Given the description of an element on the screen output the (x, y) to click on. 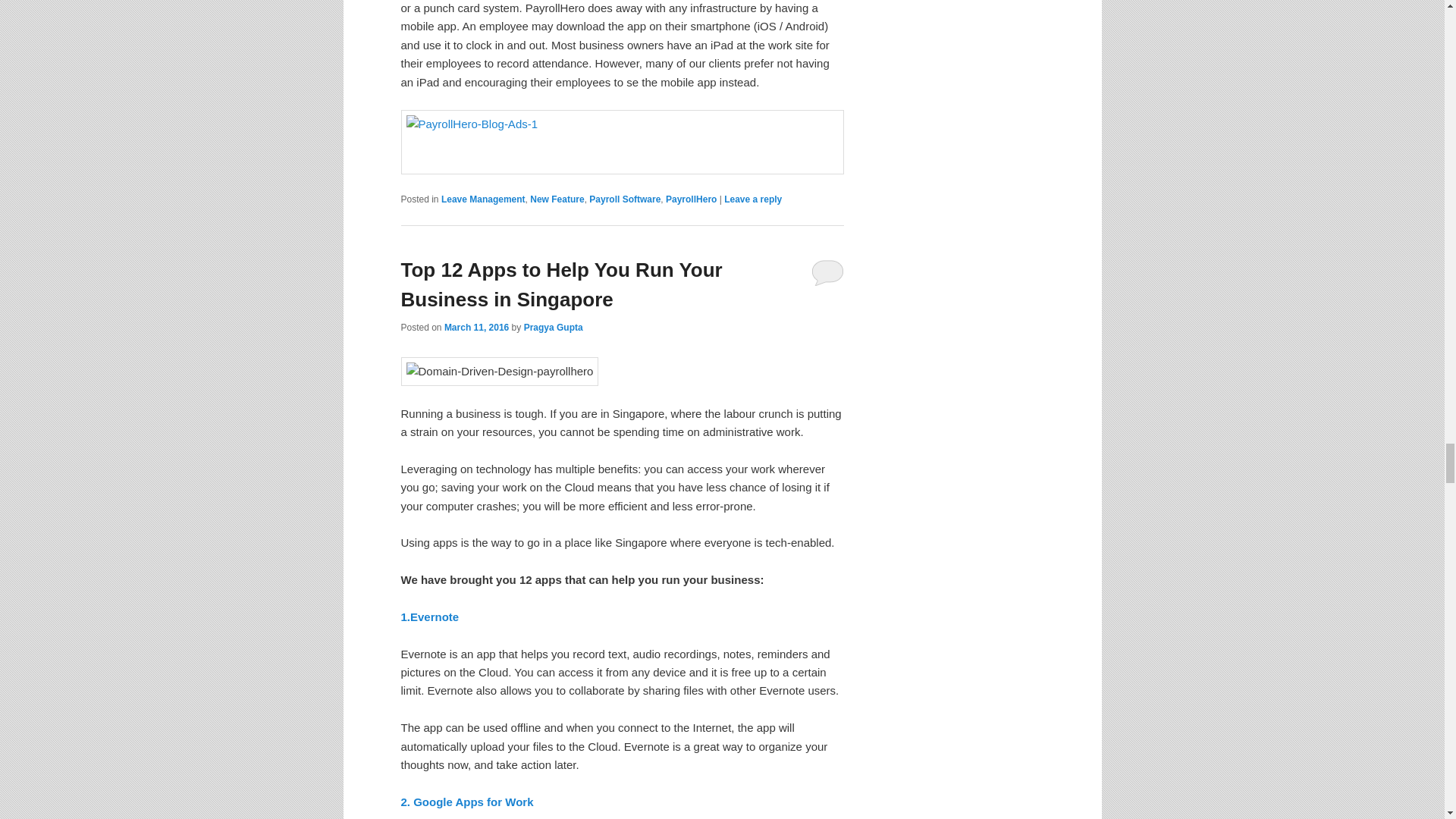
1:36 pm (476, 327)
